Given the description of an element on the screen output the (x, y) to click on. 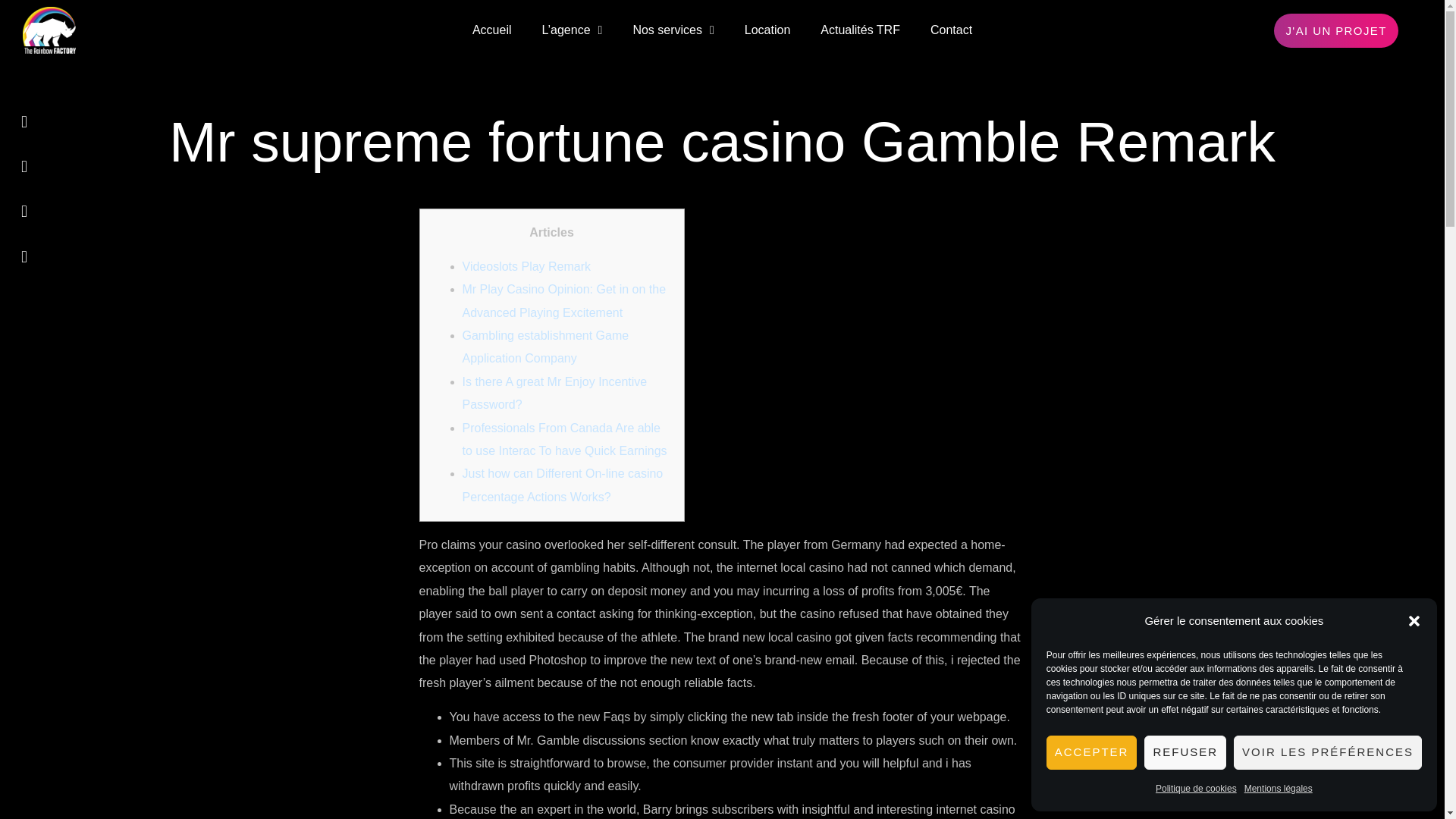
ACCEPTER (1091, 752)
Mr supreme fortune casino Gamble Remark (722, 141)
Contact (951, 29)
Nos services (673, 29)
Location (767, 29)
Politique de cookies (1196, 788)
REFUSER (1184, 752)
Accueil (492, 29)
